Given the description of an element on the screen output the (x, y) to click on. 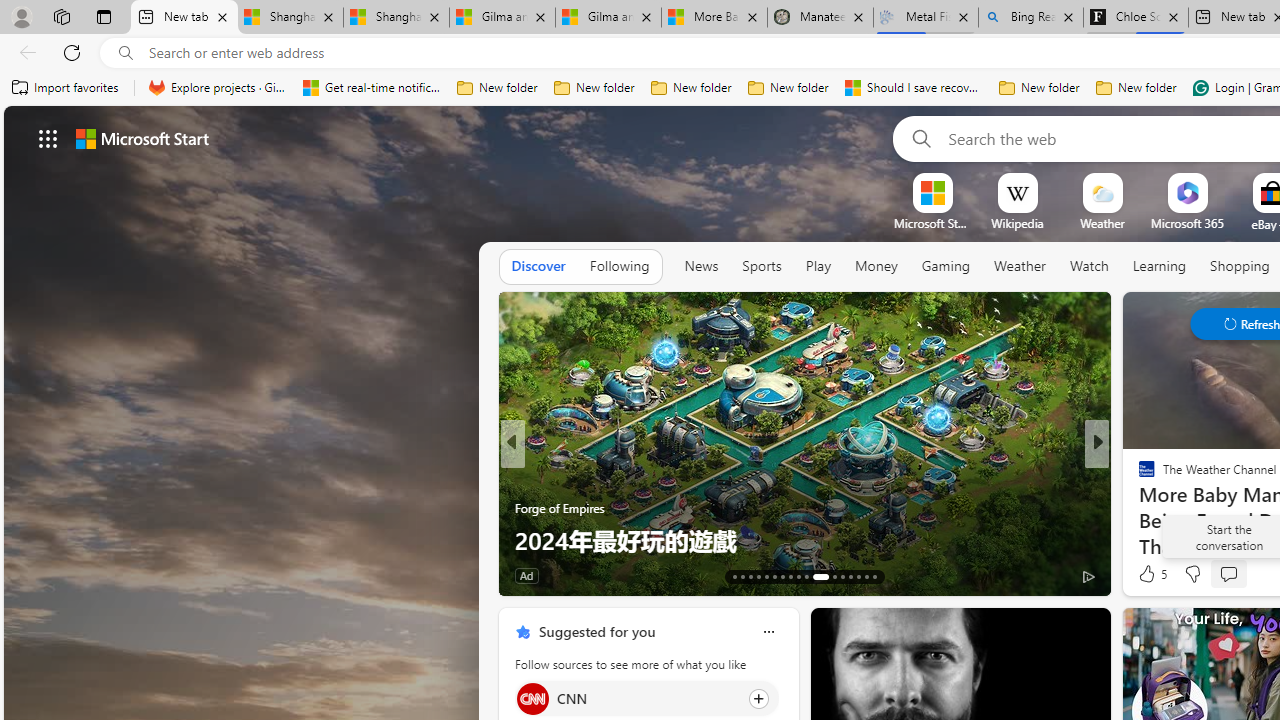
AutomationID: tab-19 (782, 576)
AutomationID: tab-23 (820, 576)
View comments 19 Comment (1244, 574)
View comments 5 Comment (1241, 574)
Suggested for you (596, 631)
AutomationID: tab-20 (789, 576)
Gaming (945, 267)
Dislike (1191, 574)
Play (818, 267)
Shanghai, China weather forecast | Microsoft Weather (396, 17)
CNN (532, 697)
Sports (761, 265)
